Given the description of an element on the screen output the (x, y) to click on. 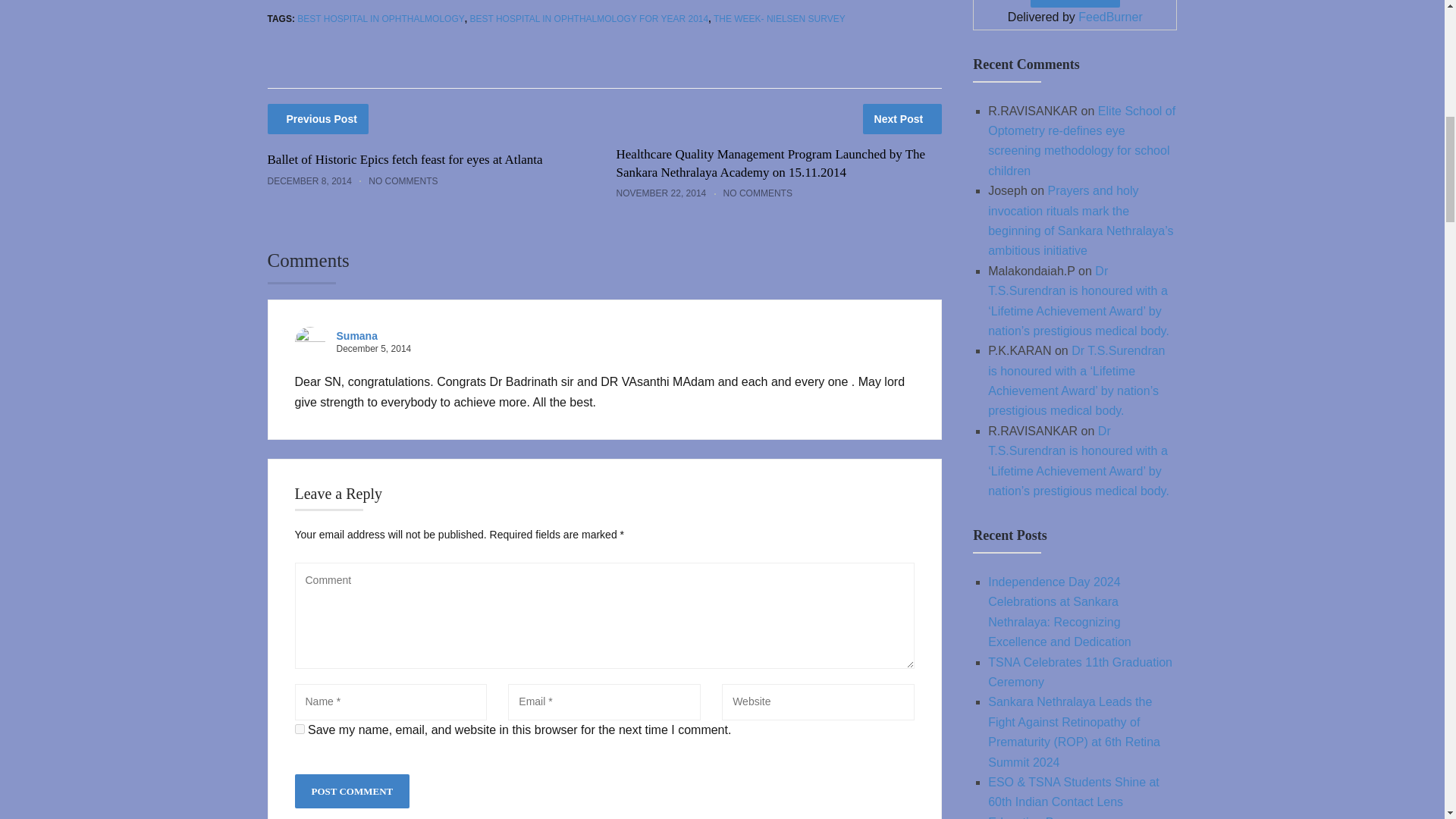
NO COMMENTS (757, 193)
TSNA Celebrates 11th Graduation Ceremony (1080, 672)
FeedBurner (1110, 16)
BEST HOSPITAL IN OPHTHALMOLOGY FOR YEAR 2014 (587, 18)
Post Comment (351, 790)
Previous Post (317, 119)
BEST HOSPITAL IN OPHTHALMOLOGY (380, 18)
NO COMMENTS (403, 181)
